Given the description of an element on the screen output the (x, y) to click on. 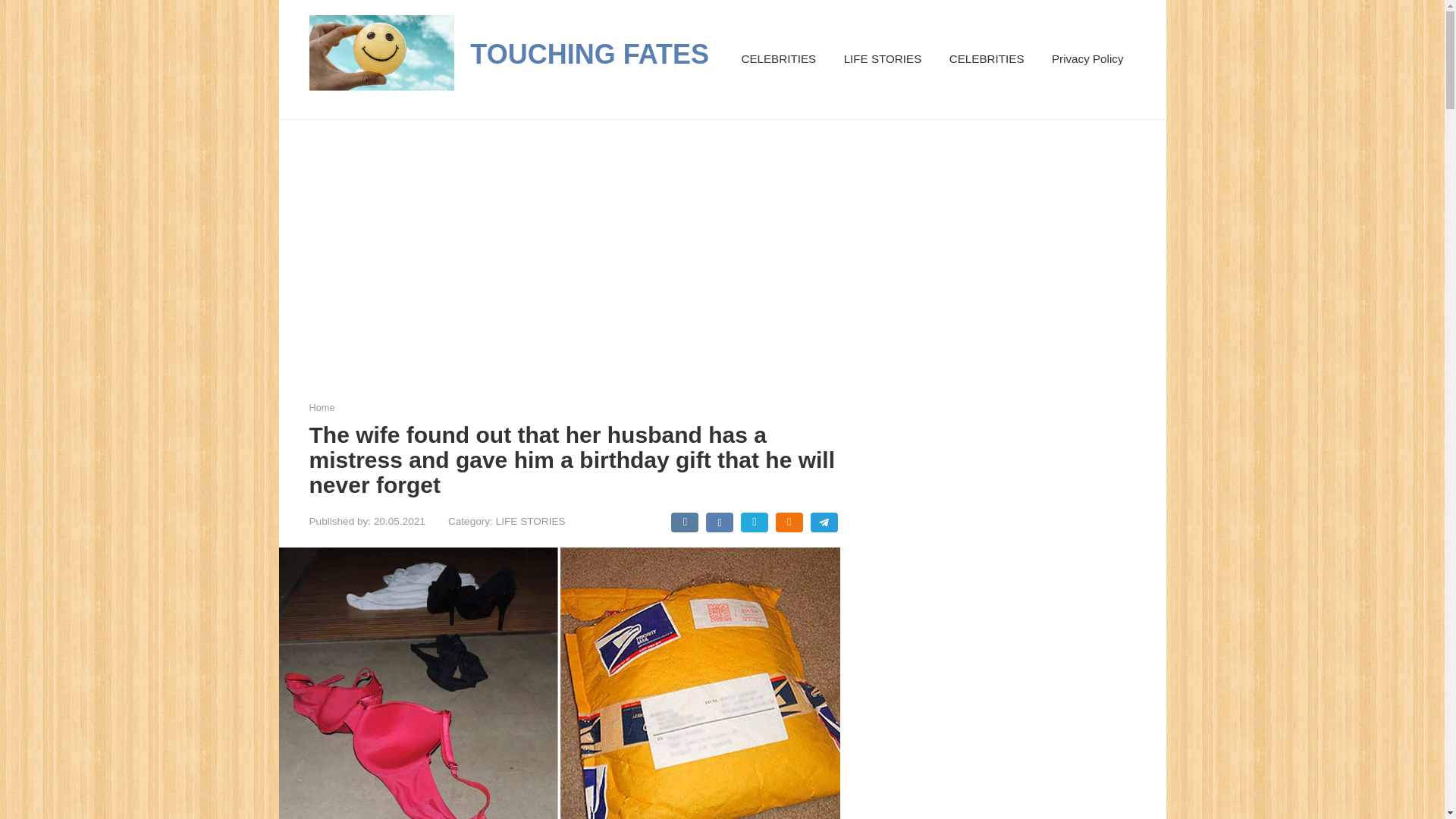
Privacy Policy (1087, 59)
CELEBRITIES (778, 59)
LIFE STORIES (882, 59)
Home (321, 407)
LIFE STORIES (531, 521)
CELEBRITIES (987, 59)
TOUCHING FATES (589, 53)
